Given the description of an element on the screen output the (x, y) to click on. 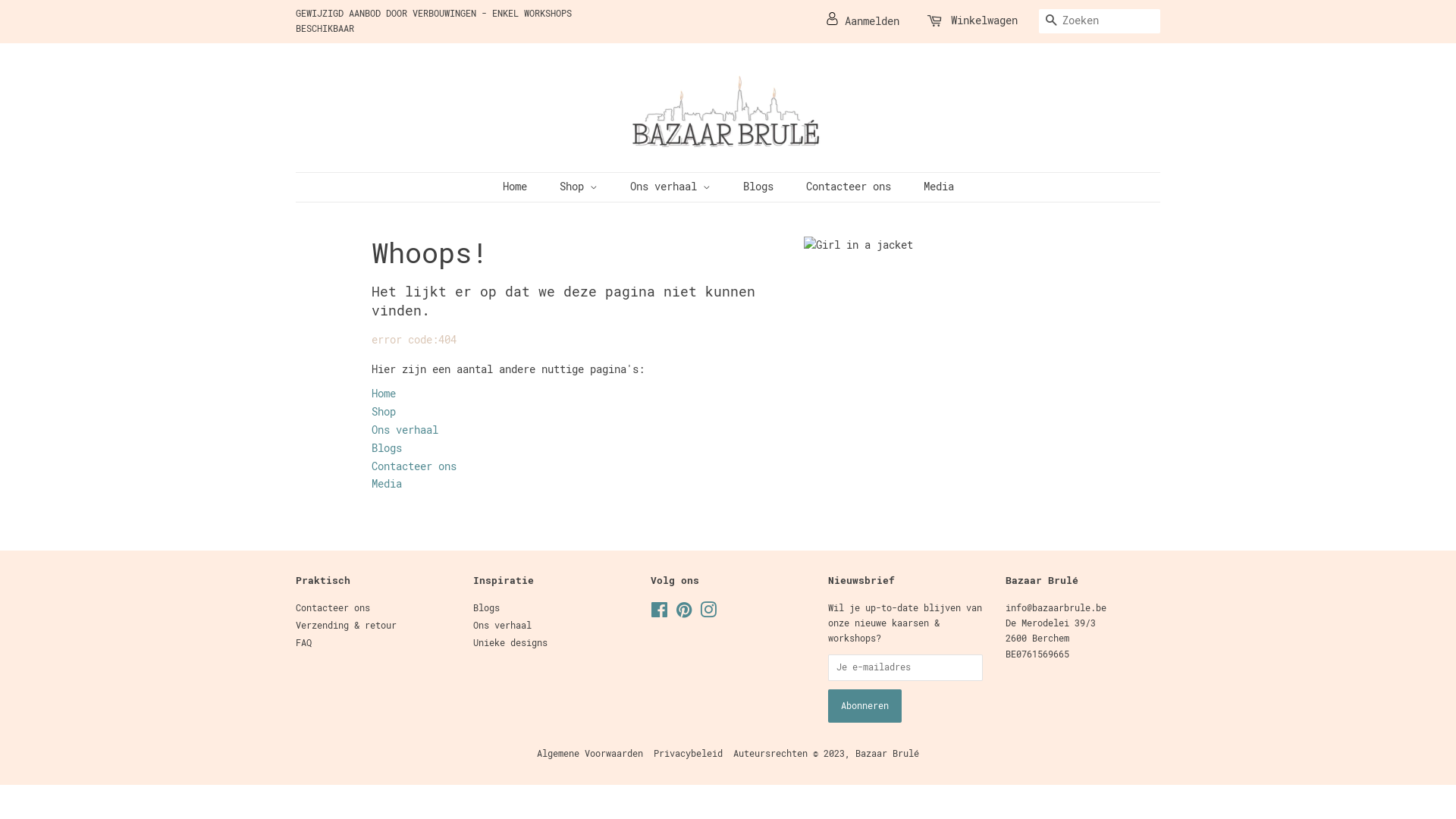
Ons verhaal Element type: text (404, 438)
Pinterest Element type: text (683, 613)
Home Element type: text (521, 186)
Aanmelden Element type: text (862, 21)
Blogs Element type: text (486, 607)
Contacteer ons Element type: text (332, 607)
Verzending & retour Element type: text (345, 625)
Zoeken Element type: text (1050, 21)
Winkelwagen Element type: text (983, 21)
Unieke designs Element type: text (510, 642)
Instagram Element type: text (707, 613)
Ons verhaal Element type: text (502, 625)
Contacteer ons Element type: text (850, 186)
Facebook Element type: text (659, 613)
Contacteer ons Element type: text (413, 475)
Shop Element type: text (383, 420)
Home Element type: text (383, 402)
Ons verhaal Element type: text (671, 186)
Media Element type: text (413, 492)
FAQ Element type: text (303, 642)
Algemene Voorwaarden   Element type: text (594, 753)
Privacybeleid   Element type: text (693, 753)
Shop Element type: text (579, 186)
Blogs Element type: text (759, 186)
Abonneren Element type: text (864, 705)
Media Element type: text (932, 186)
Blogs Element type: text (404, 457)
